Given the description of an element on the screen output the (x, y) to click on. 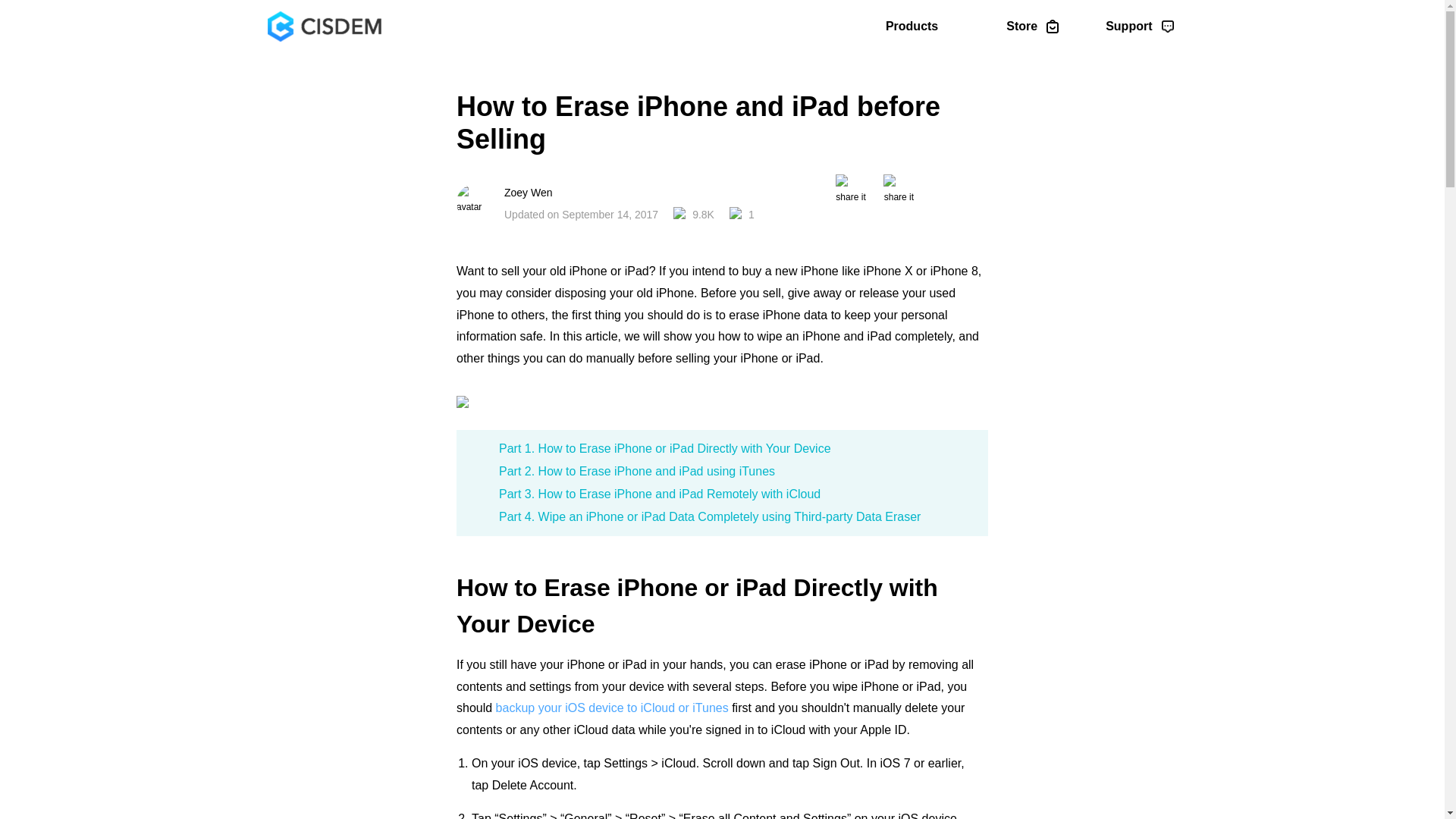
Part 3. How to Erase iPhone and iPad Remotely with iCloud (660, 493)
logo (323, 26)
Store (1032, 26)
Part 2. How to Erase iPhone and iPad using iTunes (636, 471)
backup your iOS device to iCloud or iTunes (612, 707)
Support (1139, 26)
Zoey Wen (628, 192)
Products (922, 26)
